Given the description of an element on the screen output the (x, y) to click on. 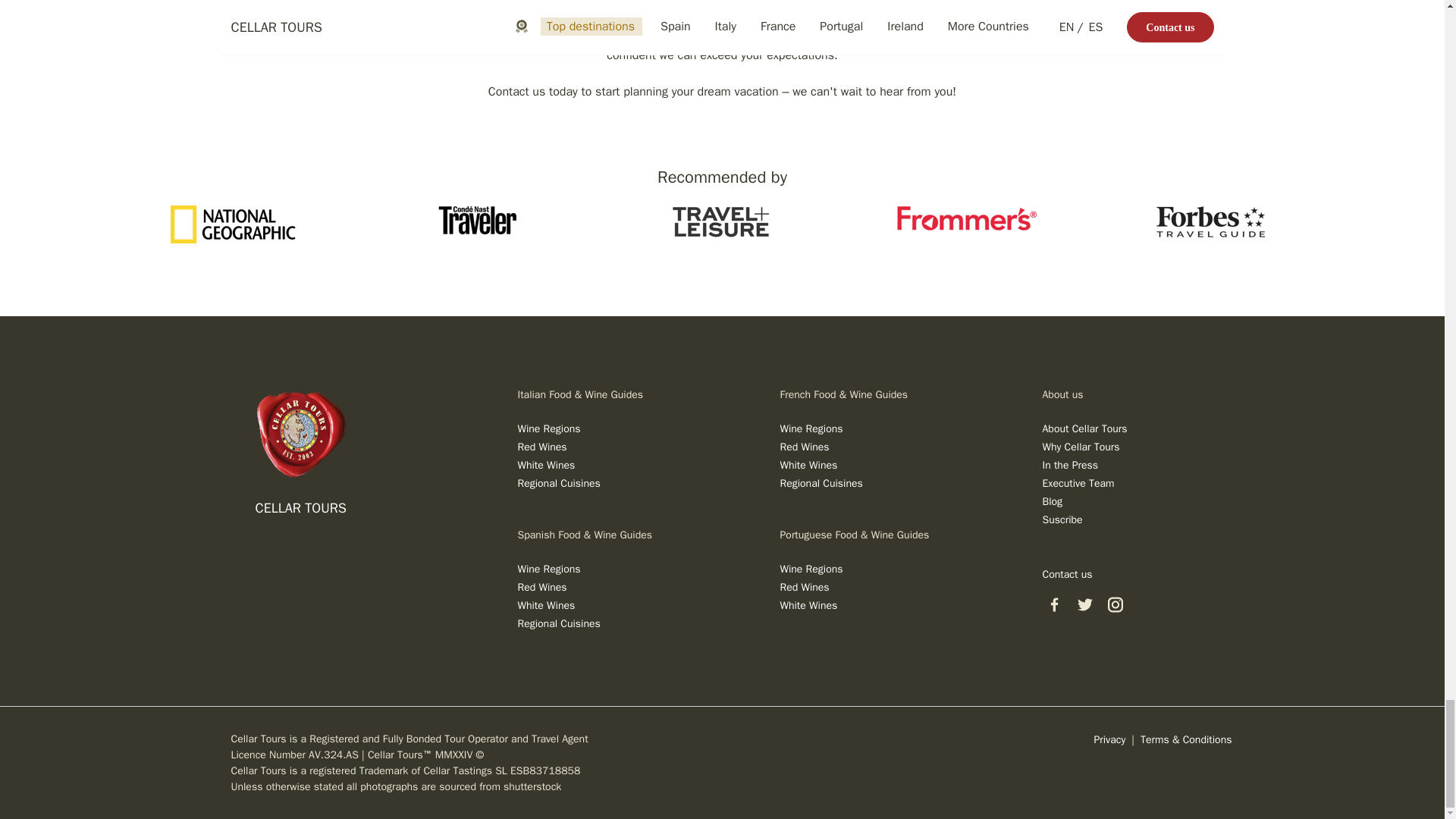
A Guide to Portuguese Red Wines (803, 586)
A Guide to Portuguese Wine Regions (810, 568)
A Guide to French Regional Cuisine (819, 482)
A Guide to French White Wines (807, 464)
A Guide to Italian White Wines (545, 464)
A Guide to Italian Regional Cuisine (557, 482)
A Guide to French Red Wines (803, 446)
A Guide to Spanish White Wines (545, 604)
A Guide to Portuguese White Wines (807, 604)
A Guide to Spanish Regional Cuisine (557, 623)
A Guide to Spanish Wine Regions (547, 568)
A Guide to French Wine Regions (810, 428)
A Guide to Italian Wine Regions (547, 428)
A Guide to Italian Red Wines (541, 446)
A Guide to Spanish Red Wines (541, 586)
